Given the description of an element on the screen output the (x, y) to click on. 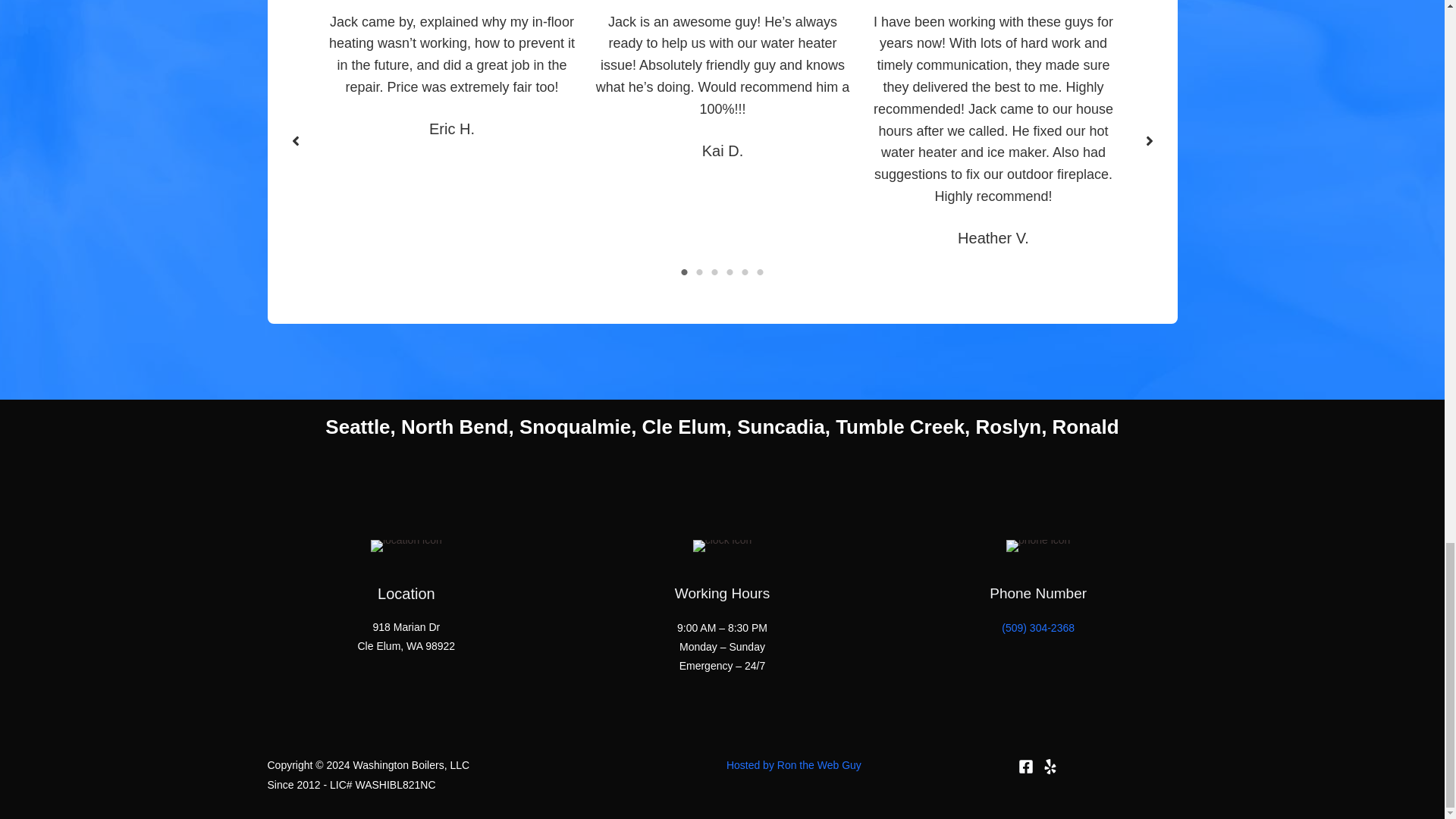
2 (698, 272)
1 (684, 272)
4 (729, 272)
3 (714, 272)
5 (744, 272)
6 (759, 272)
Hosted by Ron the Web Guy (793, 765)
